Given the description of an element on the screen output the (x, y) to click on. 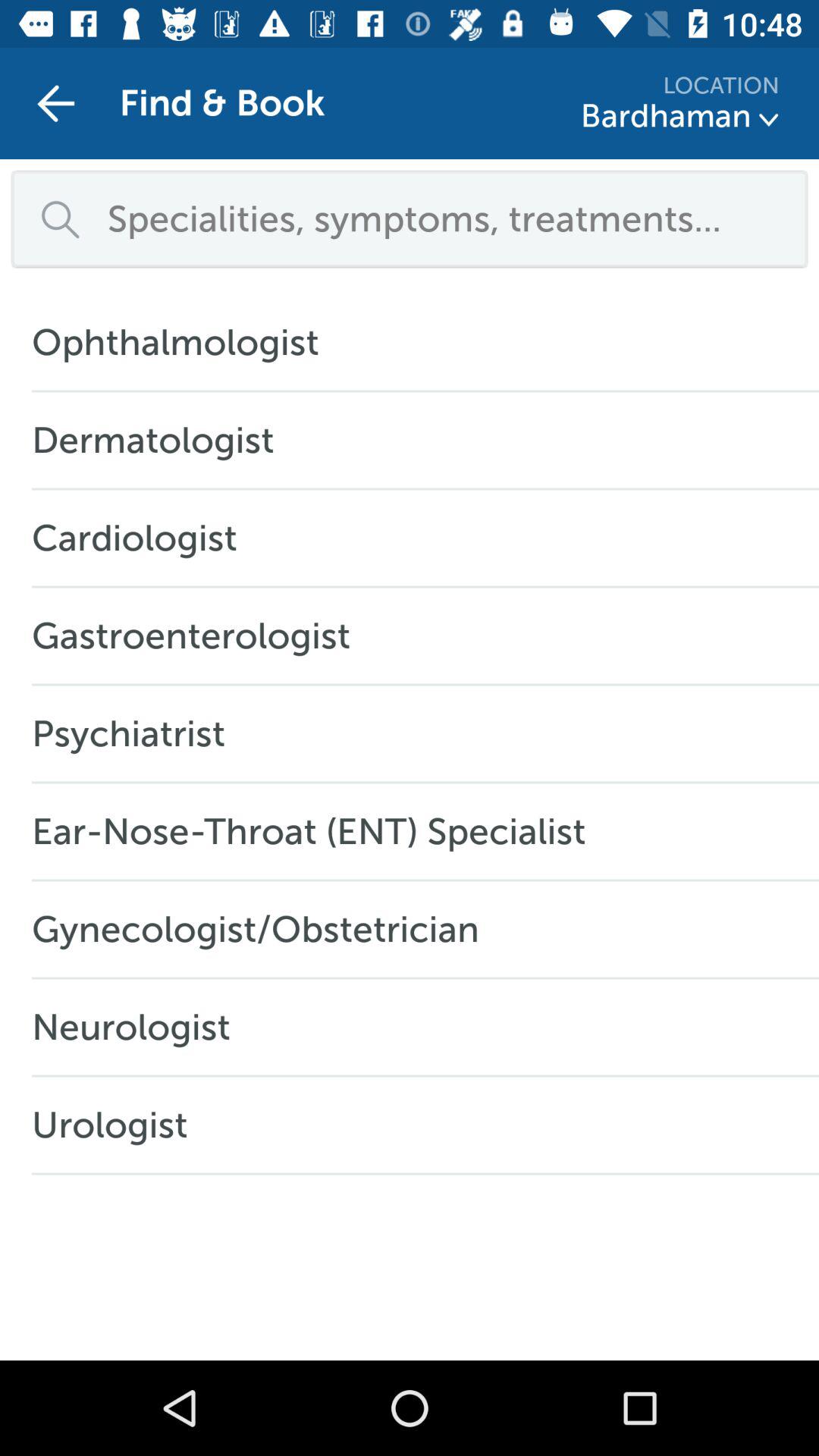
enter search details (447, 218)
